Given the description of an element on the screen output the (x, y) to click on. 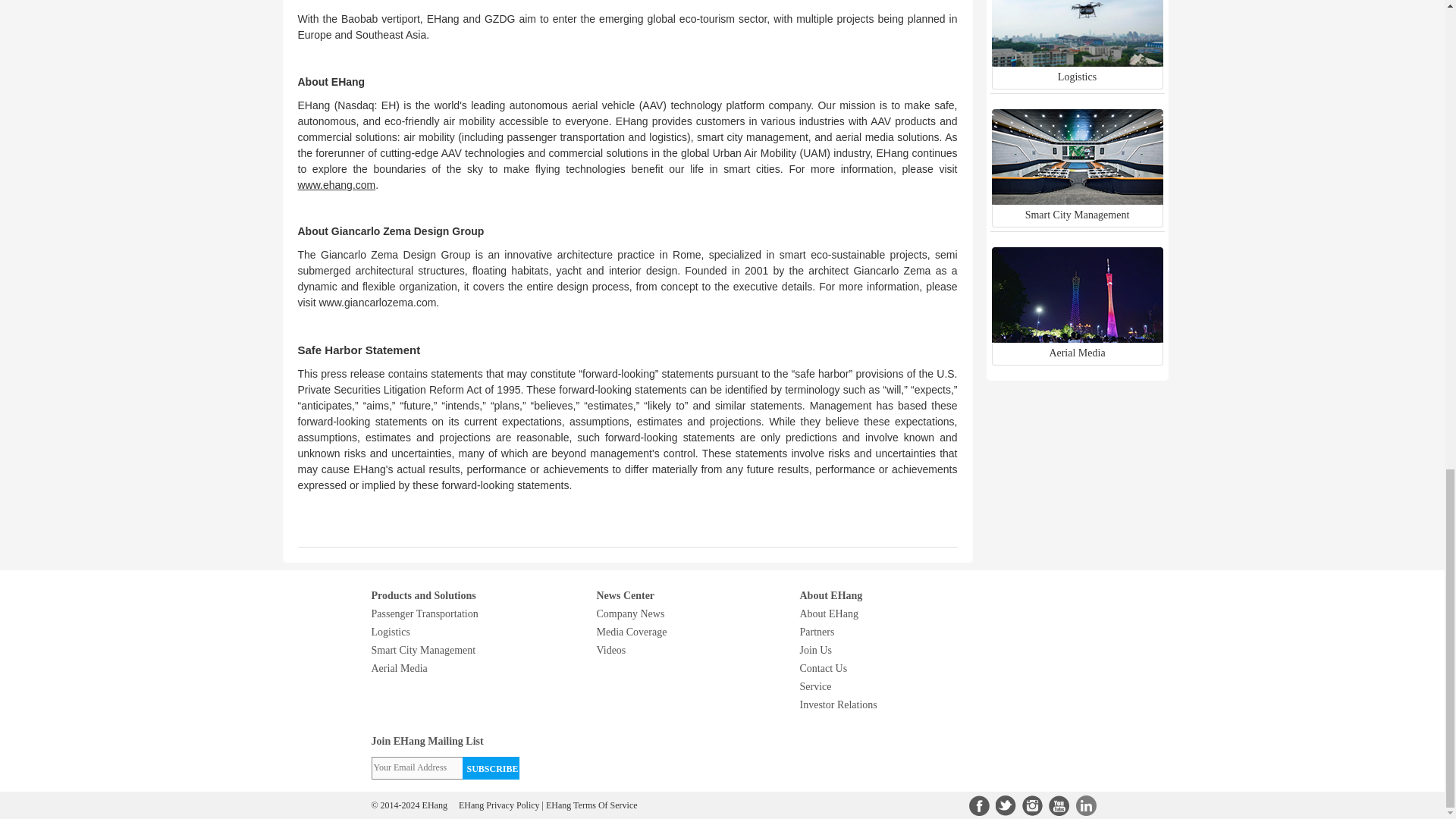
www.ehang.com (336, 184)
Smart City Management (1077, 184)
www.giancarlozema.com (376, 302)
Logistics (1077, 47)
